Given the description of an element on the screen output the (x, y) to click on. 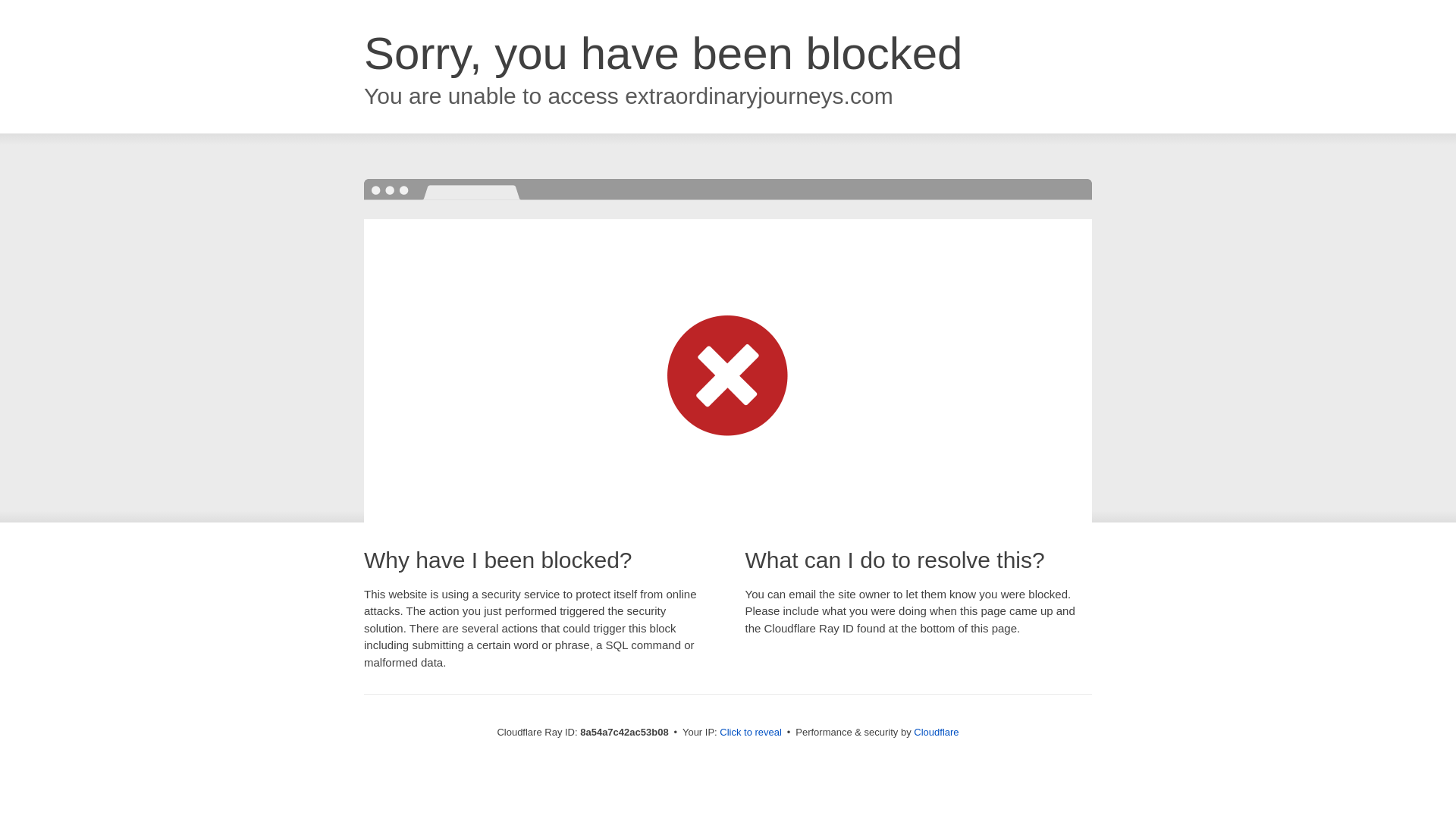
Click to reveal (750, 732)
Cloudflare (936, 731)
